Given the description of an element on the screen output the (x, y) to click on. 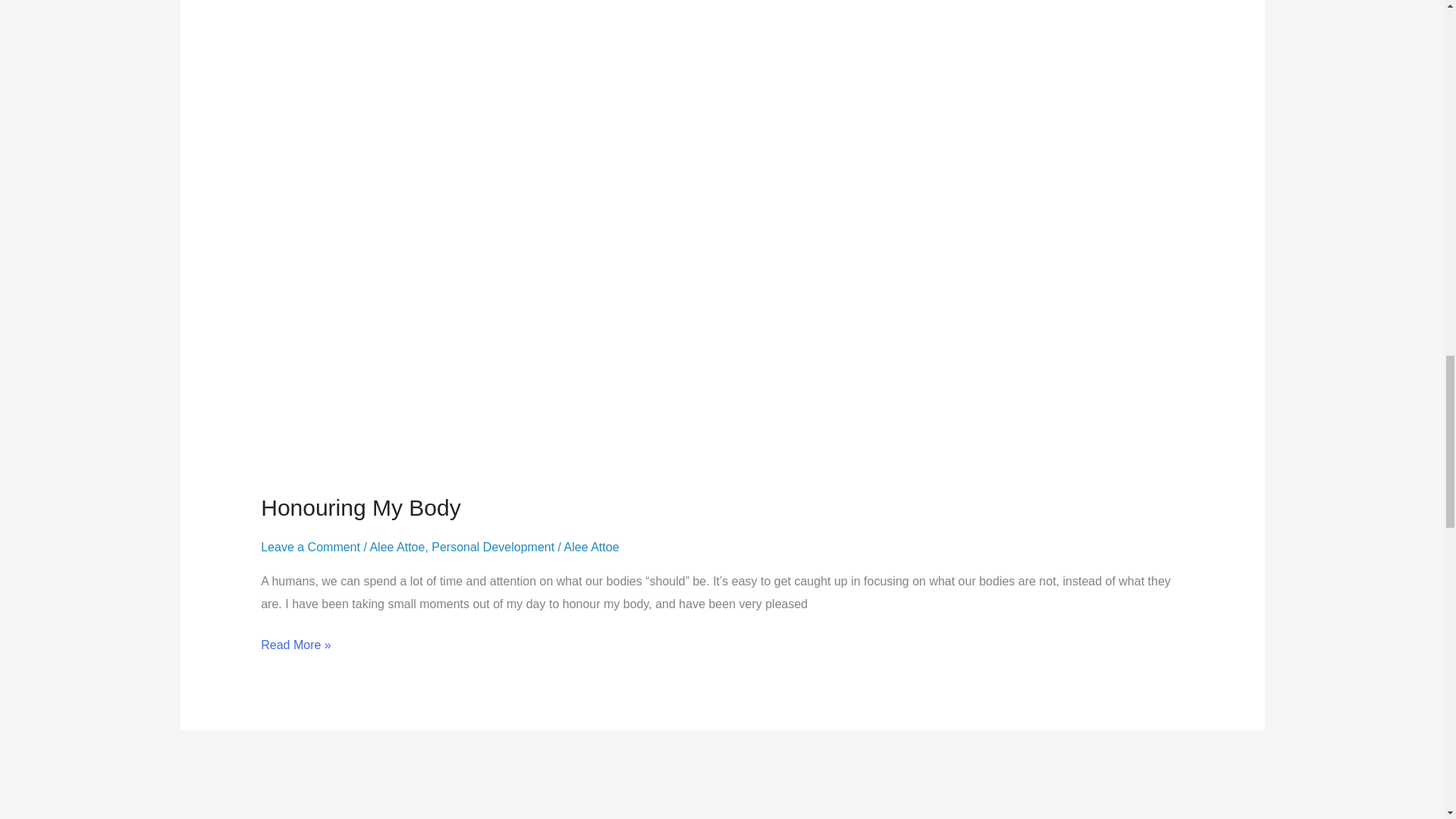
Honouring My Body (360, 507)
Leave a Comment (309, 546)
Alee Attoe (397, 546)
View all posts by Alee Attoe (592, 546)
Personal Development (492, 546)
Alee Attoe (592, 546)
